Given the description of an element on the screen output the (x, y) to click on. 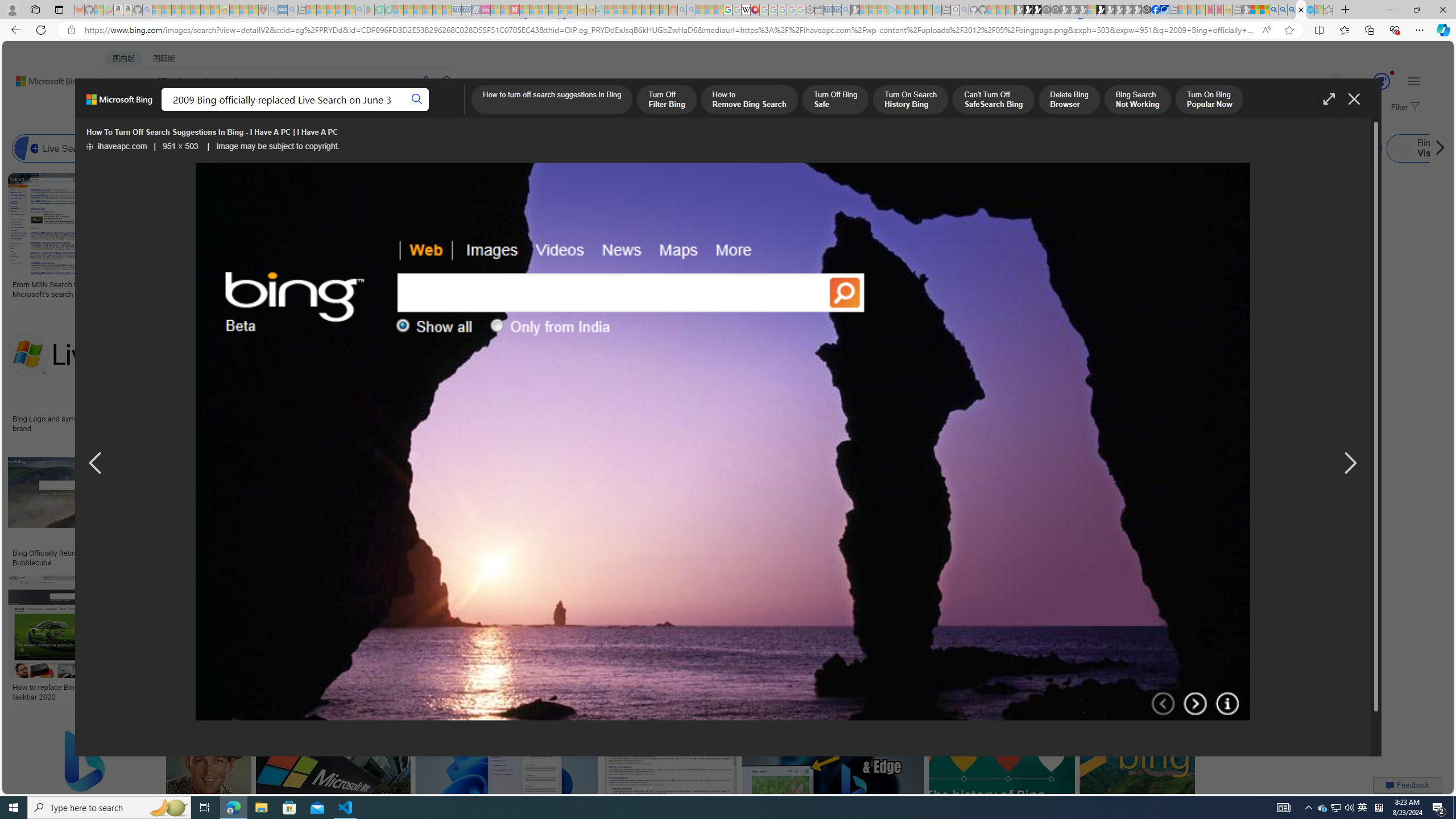
Microsoft account | Privacy - Sleeping (882, 9)
Remove the 'News & Interests' bar from Bing | TechLifeSave (863, 371)
Owner of Bing Search Engine (1067, 148)
Bing Logo, symbol, meaning, history, PNG, brand (1124, 289)
Robert H. Shmerling, MD - Harvard Health - Sleeping (263, 9)
Favorites - Sleeping (1328, 9)
Terms of Use Agreement - Sleeping (378, 9)
Bing Logo, symbol, meaning, history, PNG, brand (1124, 289)
Jobs - lastminute.com Investor Portal - Sleeping (485, 9)
New tab - Sleeping (1236, 9)
microsoft bing (1043, 419)
